Given the description of an element on the screen output the (x, y) to click on. 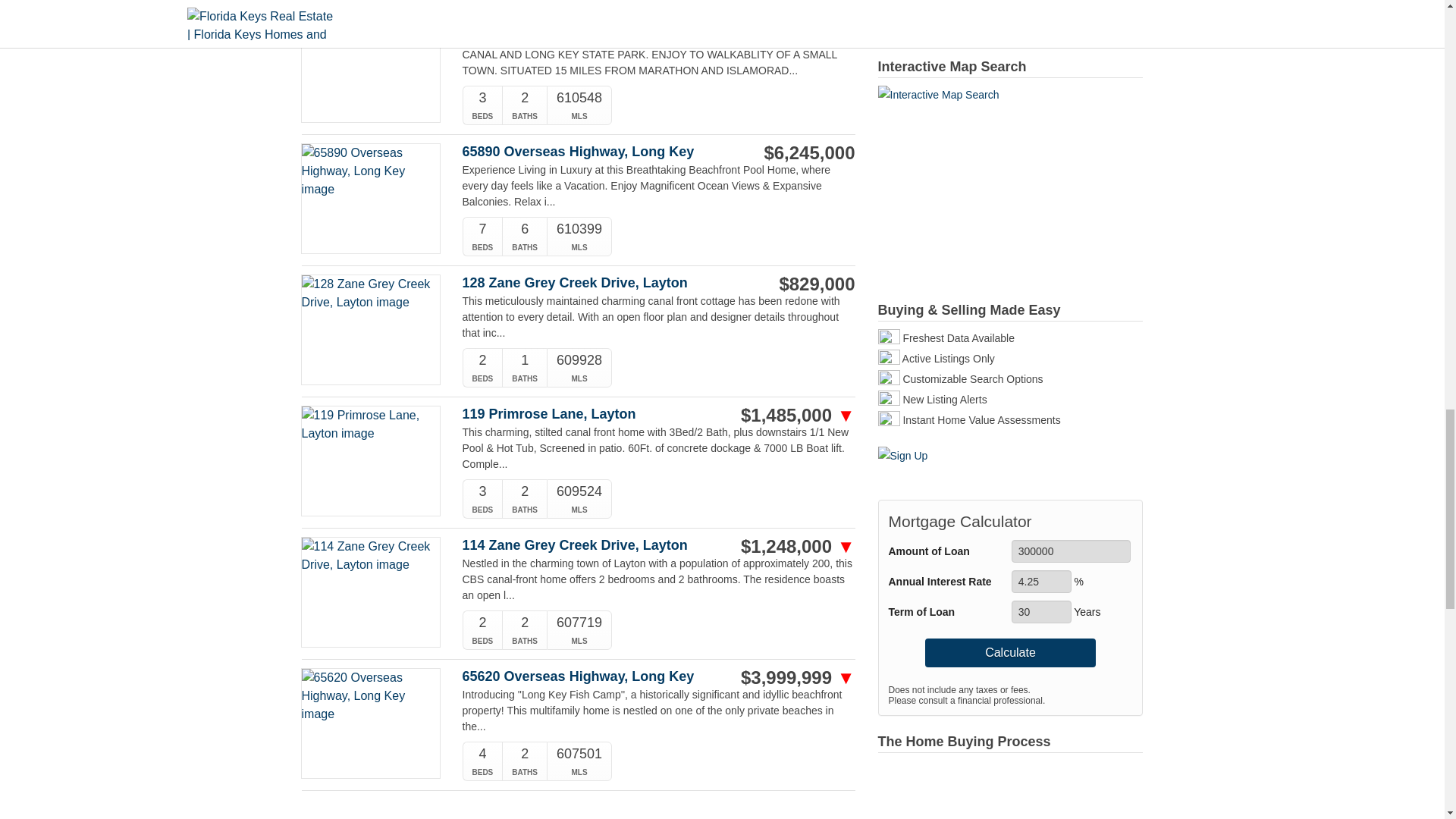
Interactive Map Search (1009, 183)
4.25 (1041, 581)
103 Long Key Lake Drive, Layton (600, 20)
65890 Overseas Highway, Long Key (600, 151)
30 (1041, 611)
119 Primrose Lane, Layton (600, 414)
300000 (1071, 550)
128 Zane Grey Creek Drive, Layton (600, 283)
